Given the description of an element on the screen output the (x, y) to click on. 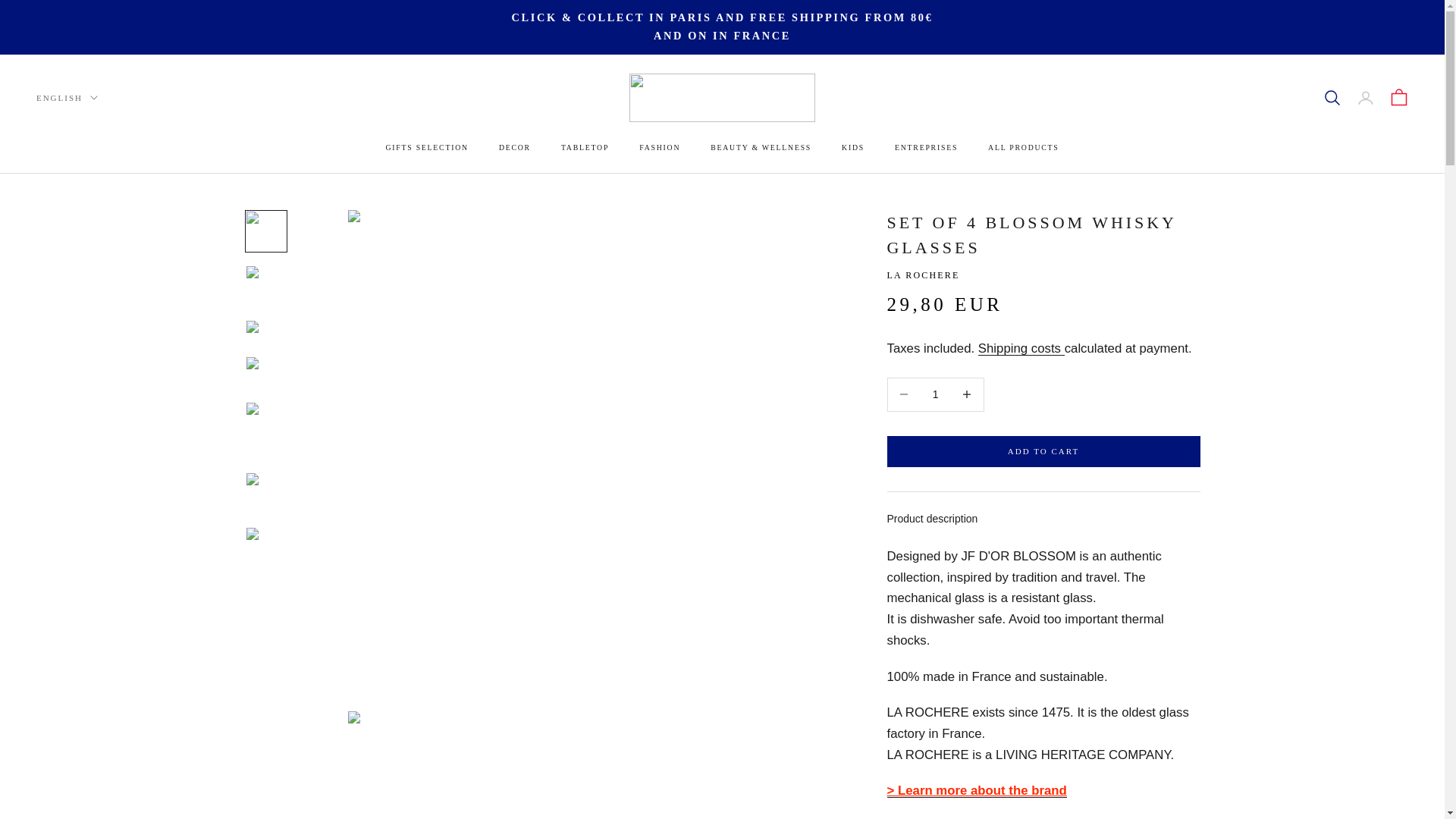
Open cart (1398, 97)
ENTREPRISES (926, 147)
Open search (1331, 97)
ENGLISH (66, 97)
1 (935, 394)
GIFTS SELECTION (426, 147)
Open account page (1365, 97)
ALL PRODUCTS (1023, 147)
